Given the description of an element on the screen output the (x, y) to click on. 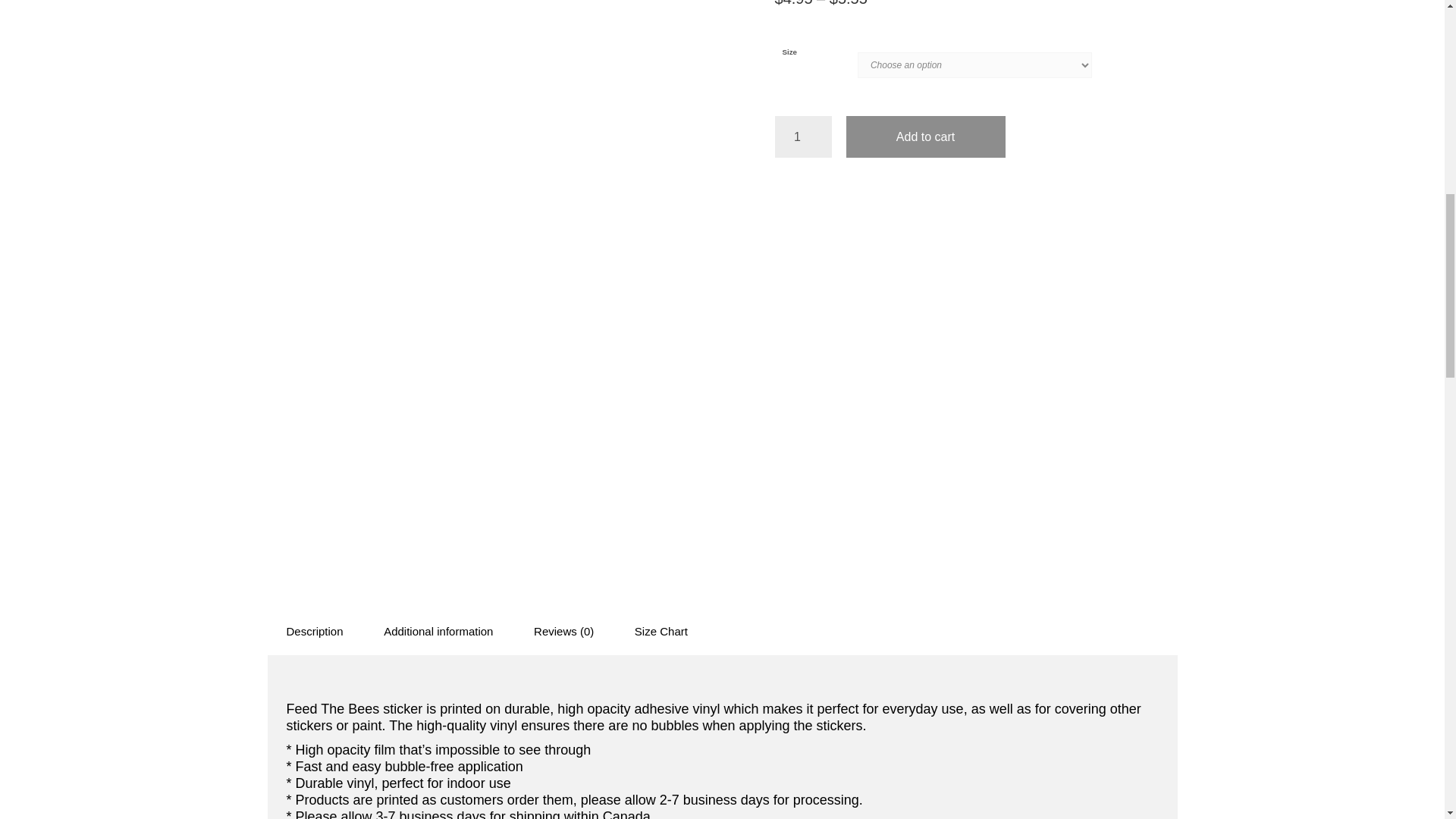
Add to cart (925, 137)
1 (802, 137)
Description (314, 631)
